Given the description of an element on the screen output the (x, y) to click on. 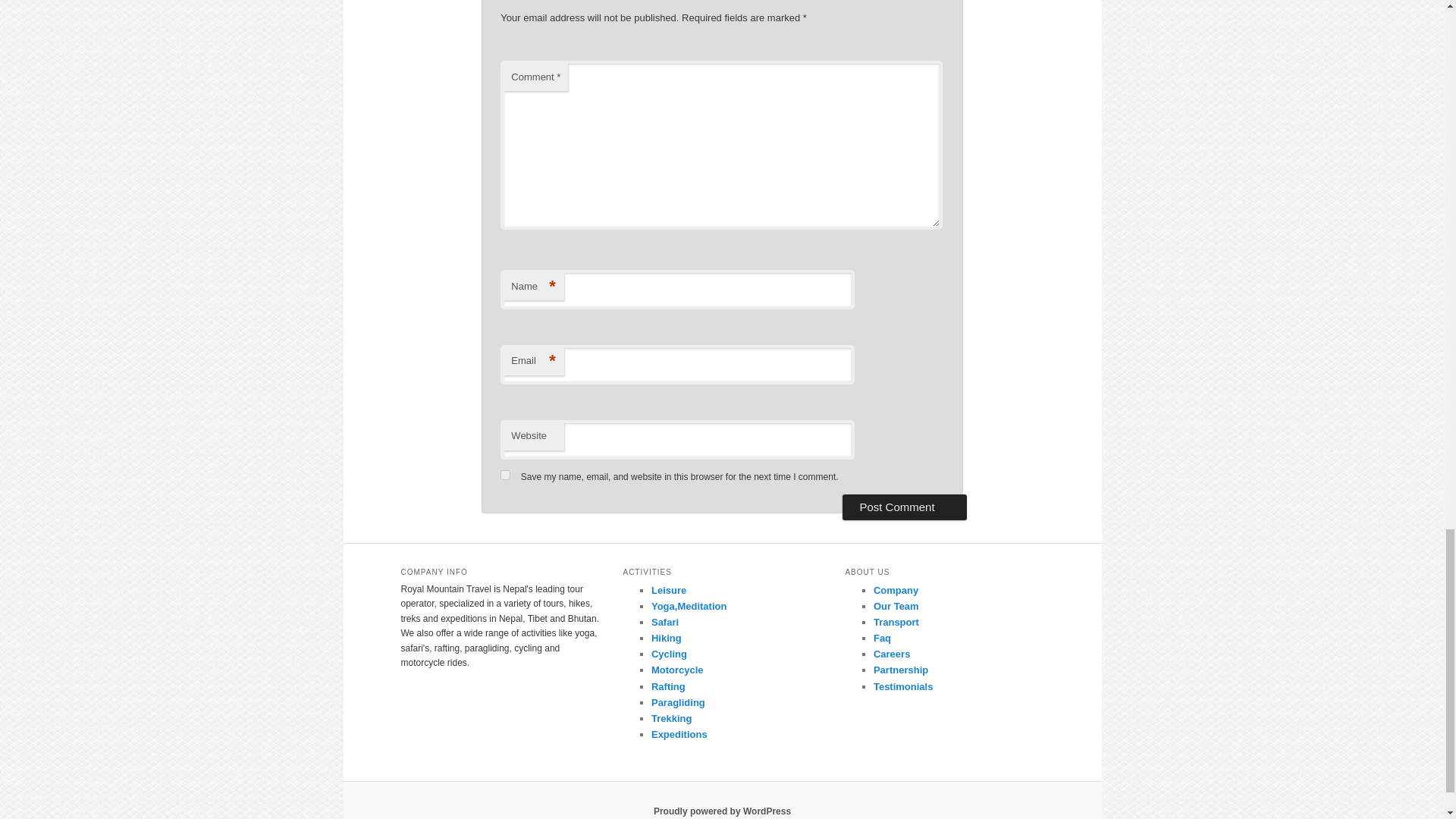
Leisure (667, 590)
Transport (895, 622)
Motorcycle (676, 669)
yes (505, 474)
Cycling (668, 654)
Expeditions (678, 734)
Safari (664, 622)
Paragliding (677, 702)
Faq (882, 637)
Testimonials (903, 686)
Yoga,Meditation (688, 605)
Post Comment (904, 507)
Trekking (670, 717)
Post Comment (904, 507)
Our Team (895, 605)
